Given the description of an element on the screen output the (x, y) to click on. 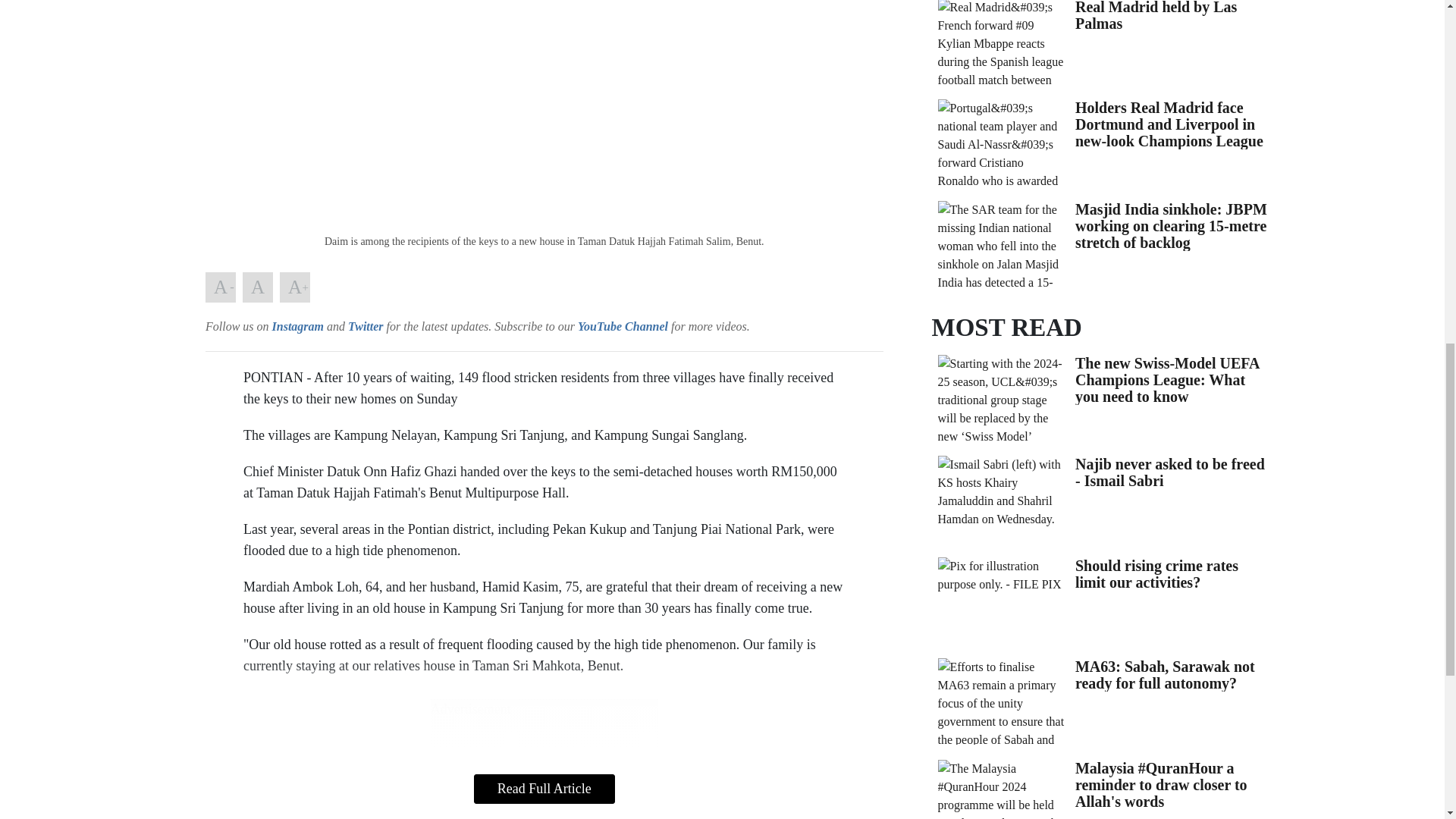
Teks Kecil (220, 286)
Teks Besar (294, 286)
Teks Asal (258, 286)
